Given the description of an element on the screen output the (x, y) to click on. 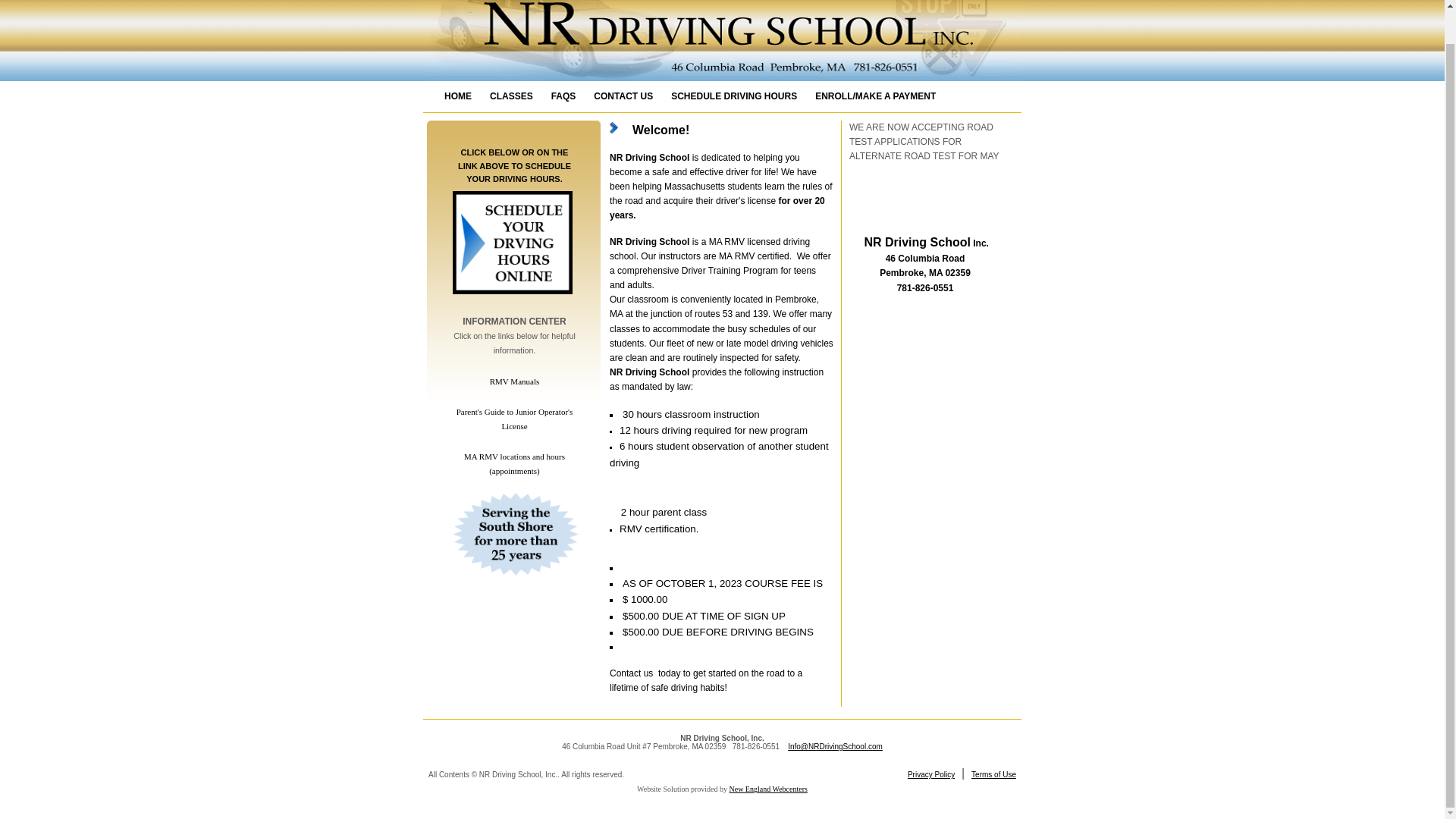
CLASSES (510, 95)
RMV Manuals (514, 380)
FAQs (563, 95)
New England Webcenters (767, 788)
Terms of Use (993, 774)
SCHEDULE DRIVING HOURS (734, 95)
Classes (510, 95)
CONTACT US (623, 95)
FAQS (563, 95)
HOME (457, 95)
Privacy Policy (931, 774)
Home (457, 95)
Parent's Guide to Junior Operator's License (515, 418)
Contact Us (623, 95)
